Given the description of an element on the screen output the (x, y) to click on. 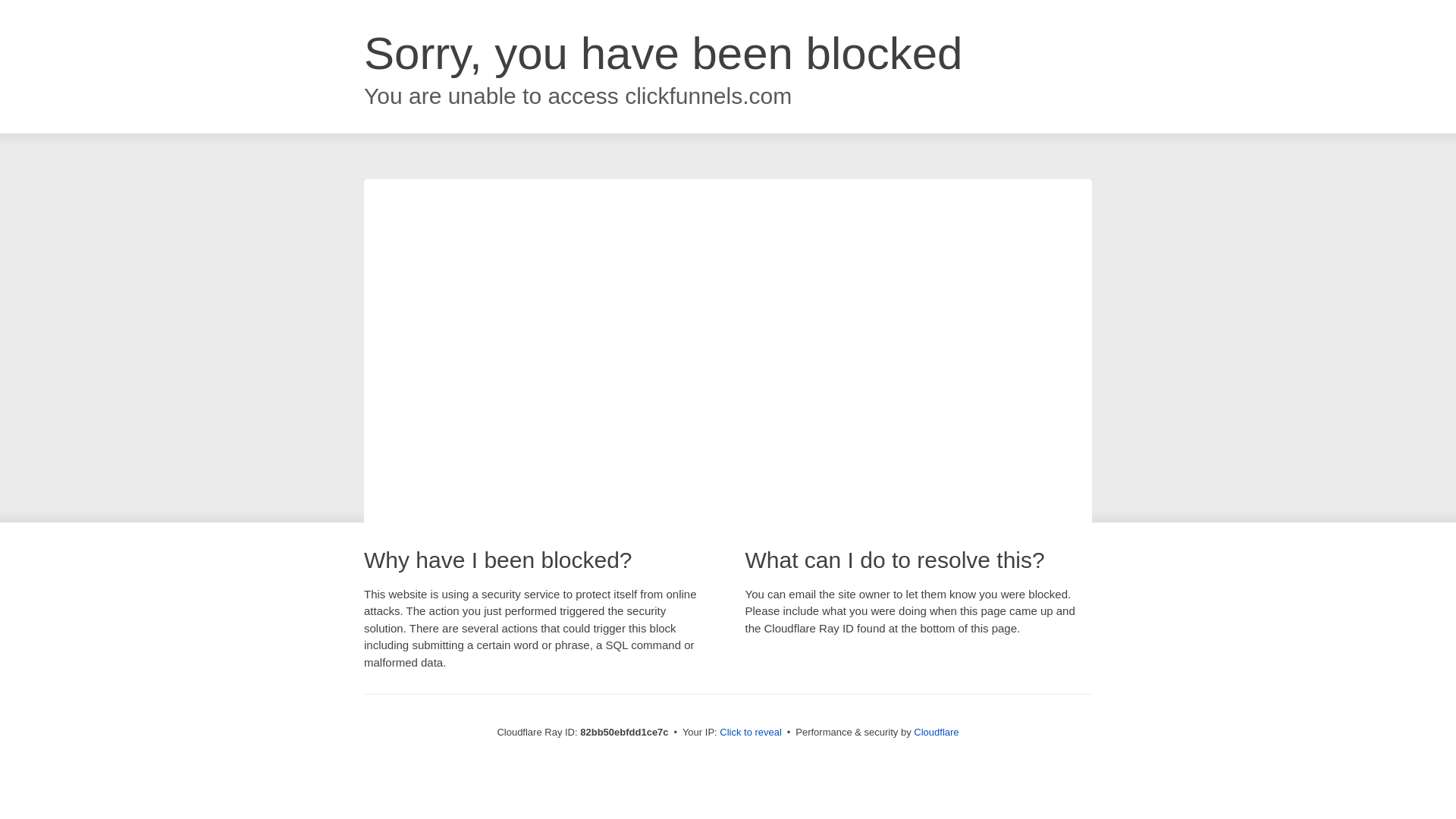
Click to reveal Element type: text (750, 732)
Cloudflare Element type: text (935, 731)
